Given the description of an element on the screen output the (x, y) to click on. 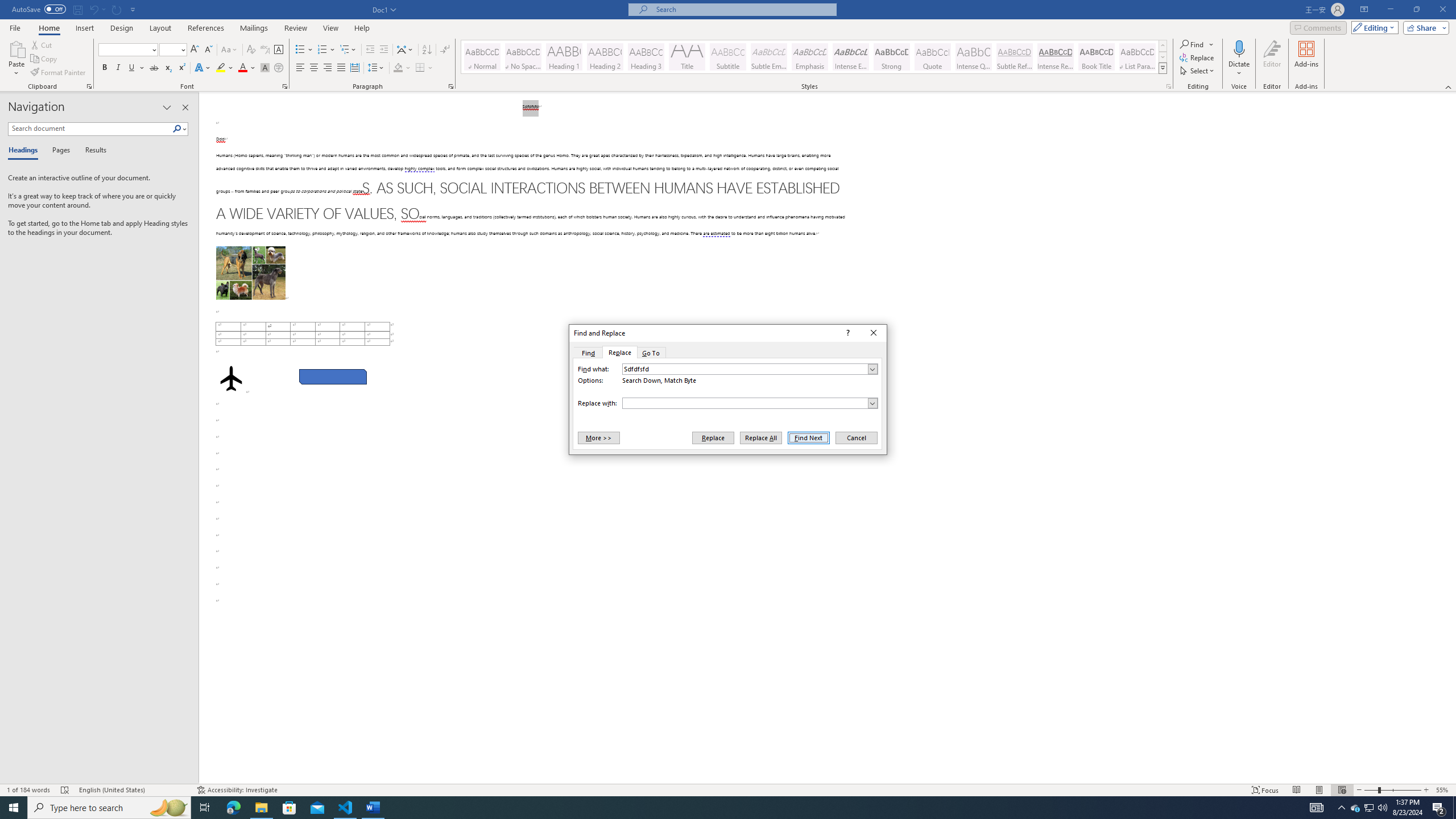
Zoom (1392, 790)
Row up (1162, 45)
More Options (1238, 68)
Distributed (354, 67)
Underline (131, 67)
Zoom In (1426, 790)
Find what: (749, 369)
Character Shading (264, 67)
Font (128, 49)
AutomationID: QuickStylesGallery (814, 56)
Search document (89, 128)
Running applications (717, 807)
